Given the description of an element on the screen output the (x, y) to click on. 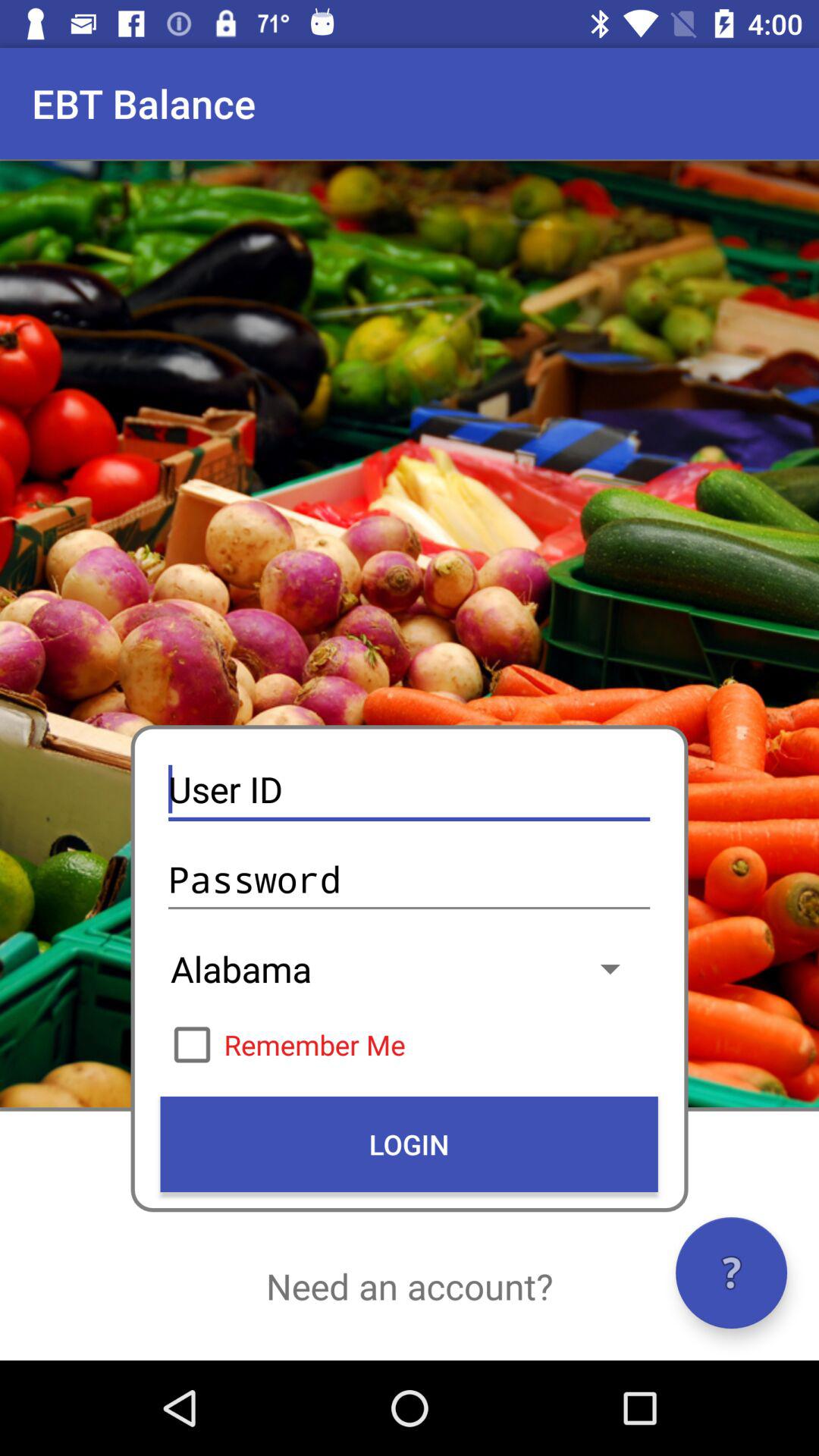
tap the icon below the ebt balance icon (409, 789)
